Given the description of an element on the screen output the (x, y) to click on. 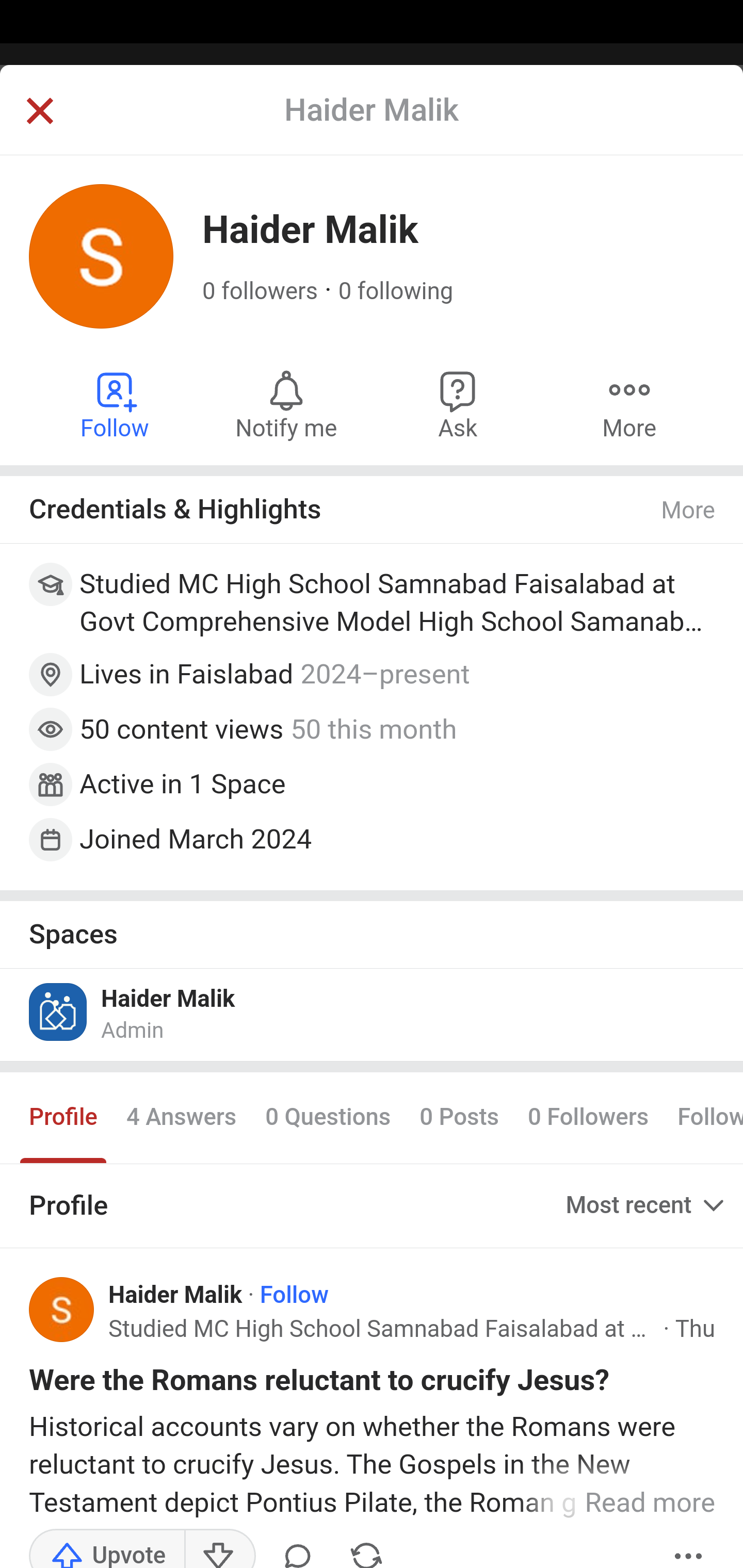
Back Answer (371, 125)
 (39, 112)
0 followers (260, 291)
0 following (395, 291)
Follow Haider Malik Follow (115, 404)
Notify me (285, 404)
Ask (458, 404)
More (628, 404)
More (688, 510)
Icon for Haider Malik (58, 1011)
Haider Malik (168, 998)
Profile (63, 1117)
4 Answers (180, 1117)
0 Questions (327, 1117)
0 Posts (459, 1117)
0 Followers (588, 1117)
Following (702, 1117)
Most recent (647, 1204)
Profile photo for Haider Malik (61, 1309)
Haider Malik (175, 1294)
Follow (293, 1294)
Thu (694, 1328)
Upvote (106, 1547)
Downvote (219, 1547)
Comment (297, 1547)
Share (366, 1547)
More (688, 1547)
